Given the description of an element on the screen output the (x, y) to click on. 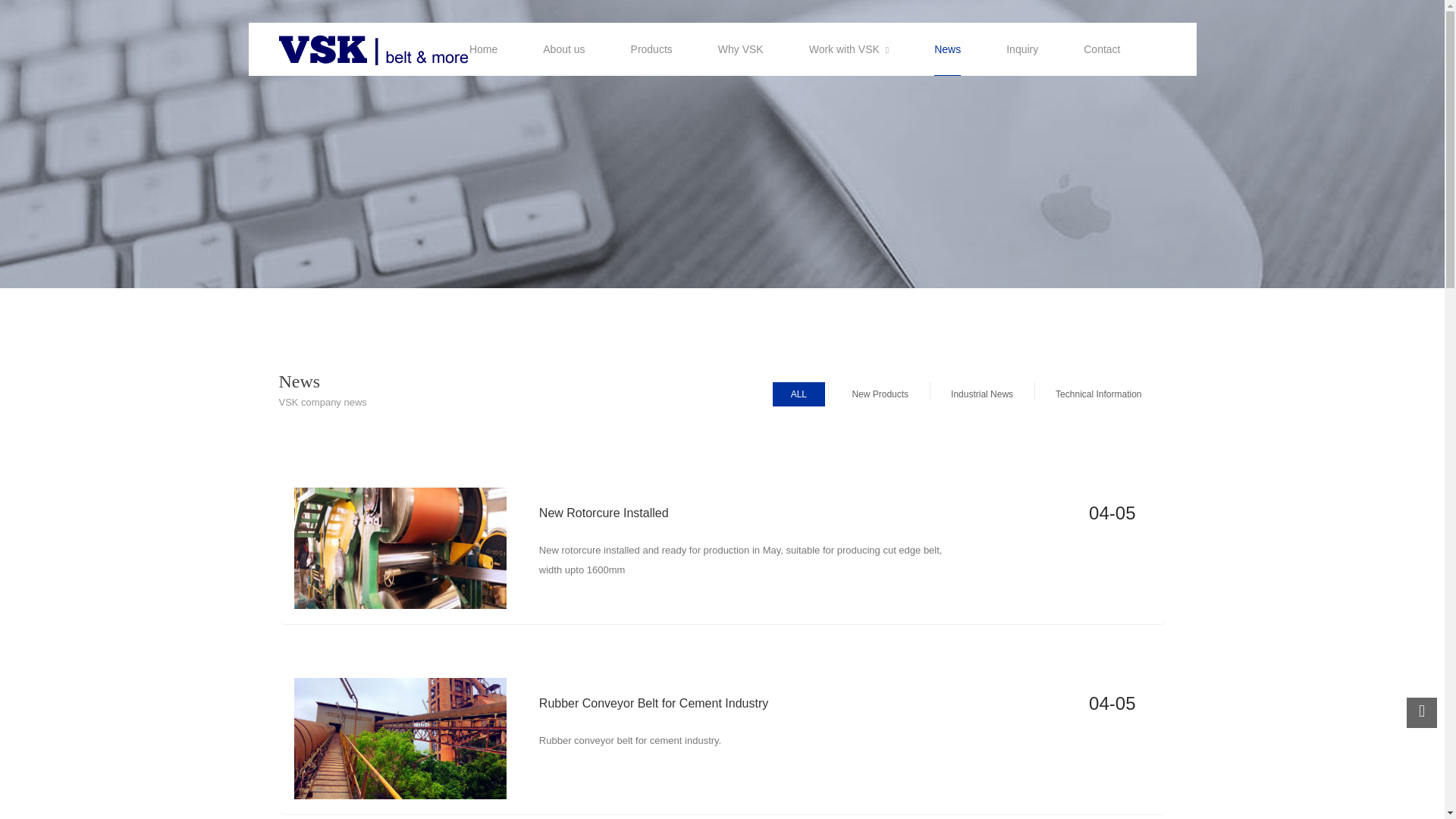
News (947, 49)
About us (564, 49)
Industrial News (981, 394)
New Products (879, 394)
Technical Information (1097, 394)
Work with VSK (849, 49)
Inquiry (1022, 49)
Products (651, 49)
Contact (1101, 49)
Home (482, 49)
Why VSK (739, 49)
ALL (799, 394)
